Given the description of an element on the screen output the (x, y) to click on. 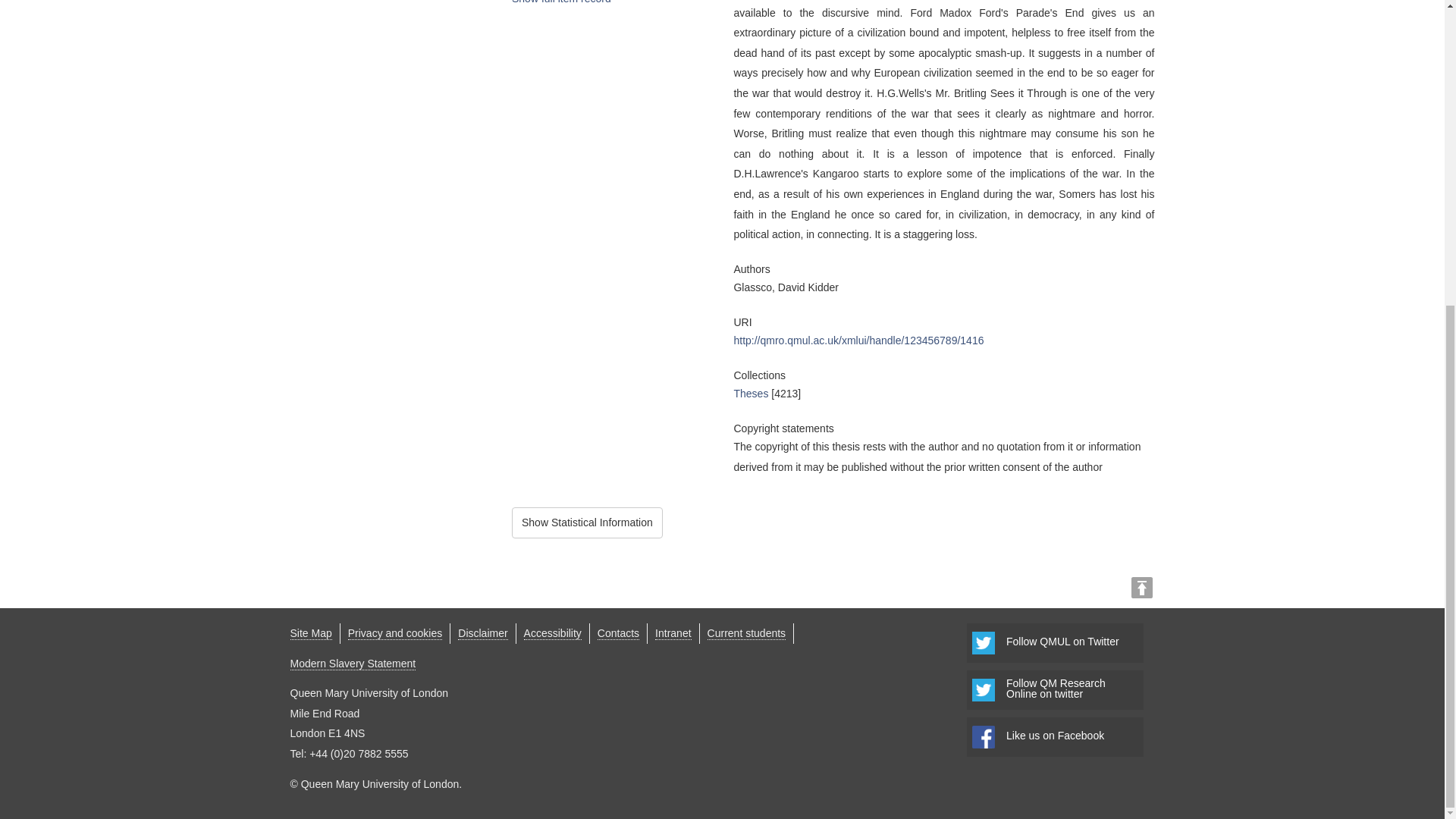
Contact details for general enquiries (617, 633)
Site Map (310, 633)
Theses (750, 393)
Like us on Facebook (1054, 736)
Follow QMUL on Twitter (1054, 690)
Show Statistical Information (1054, 642)
Privacy and cookies (587, 522)
Disability and accessibility statement (394, 633)
Disclaimer (552, 633)
Disclaimer (482, 633)
Privacy and data protection statement (482, 633)
Detailed site map (394, 633)
Show full item record (310, 633)
